Given the description of an element on the screen output the (x, y) to click on. 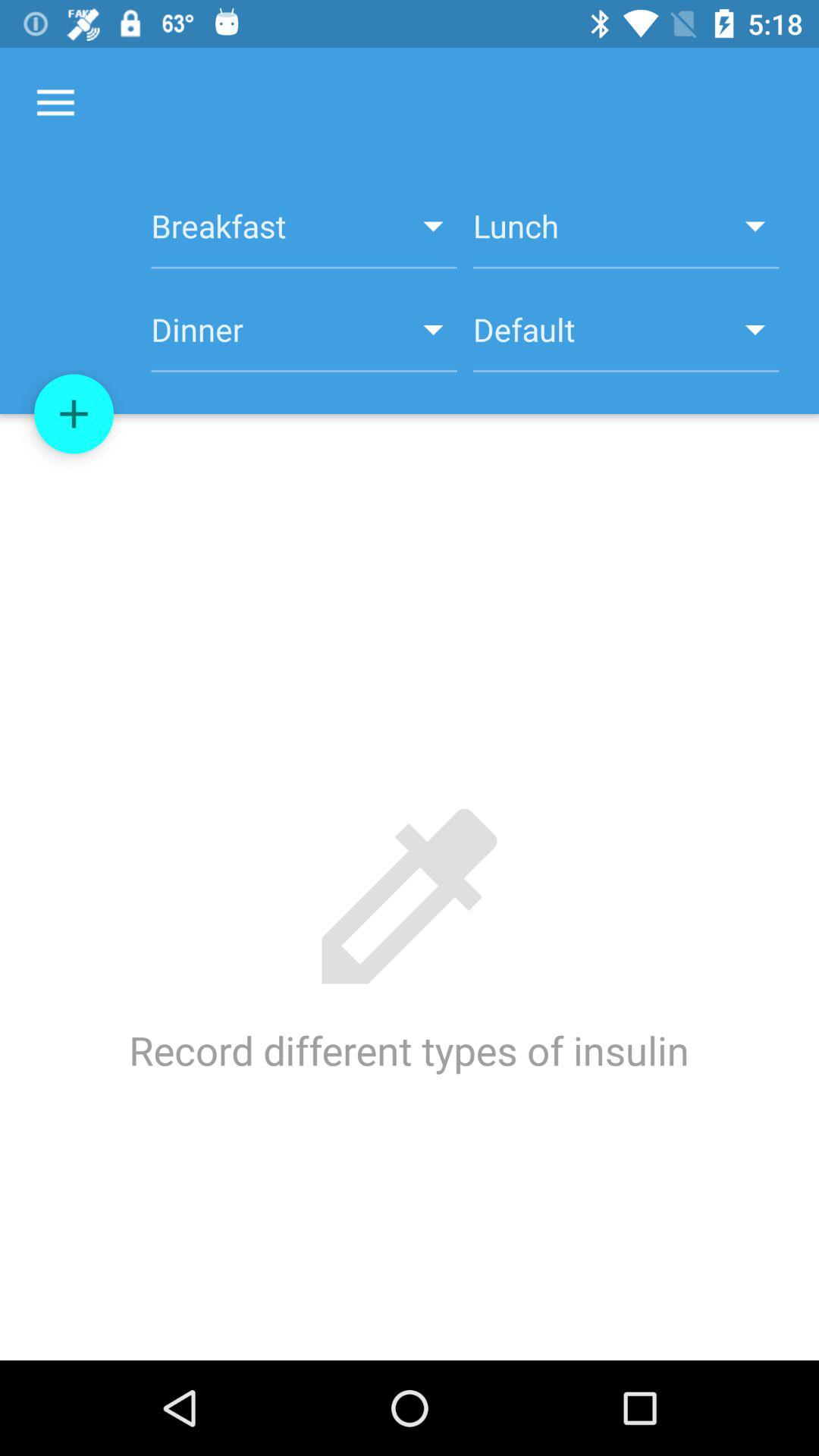
add record (73, 413)
